Given the description of an element on the screen output the (x, y) to click on. 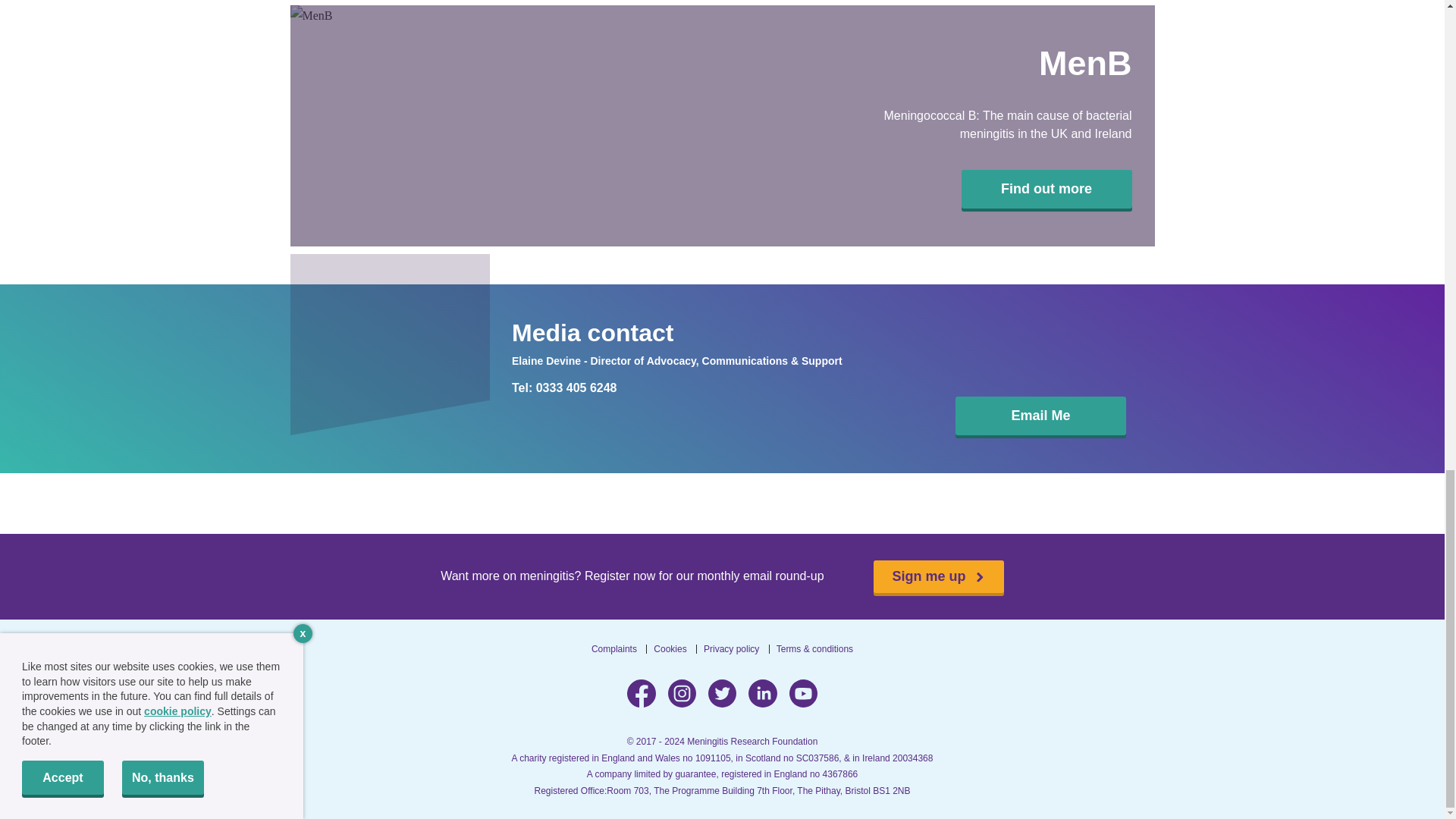
Complaints (614, 648)
Cookies (669, 648)
Privacy policy (730, 648)
